Given the description of an element on the screen output the (x, y) to click on. 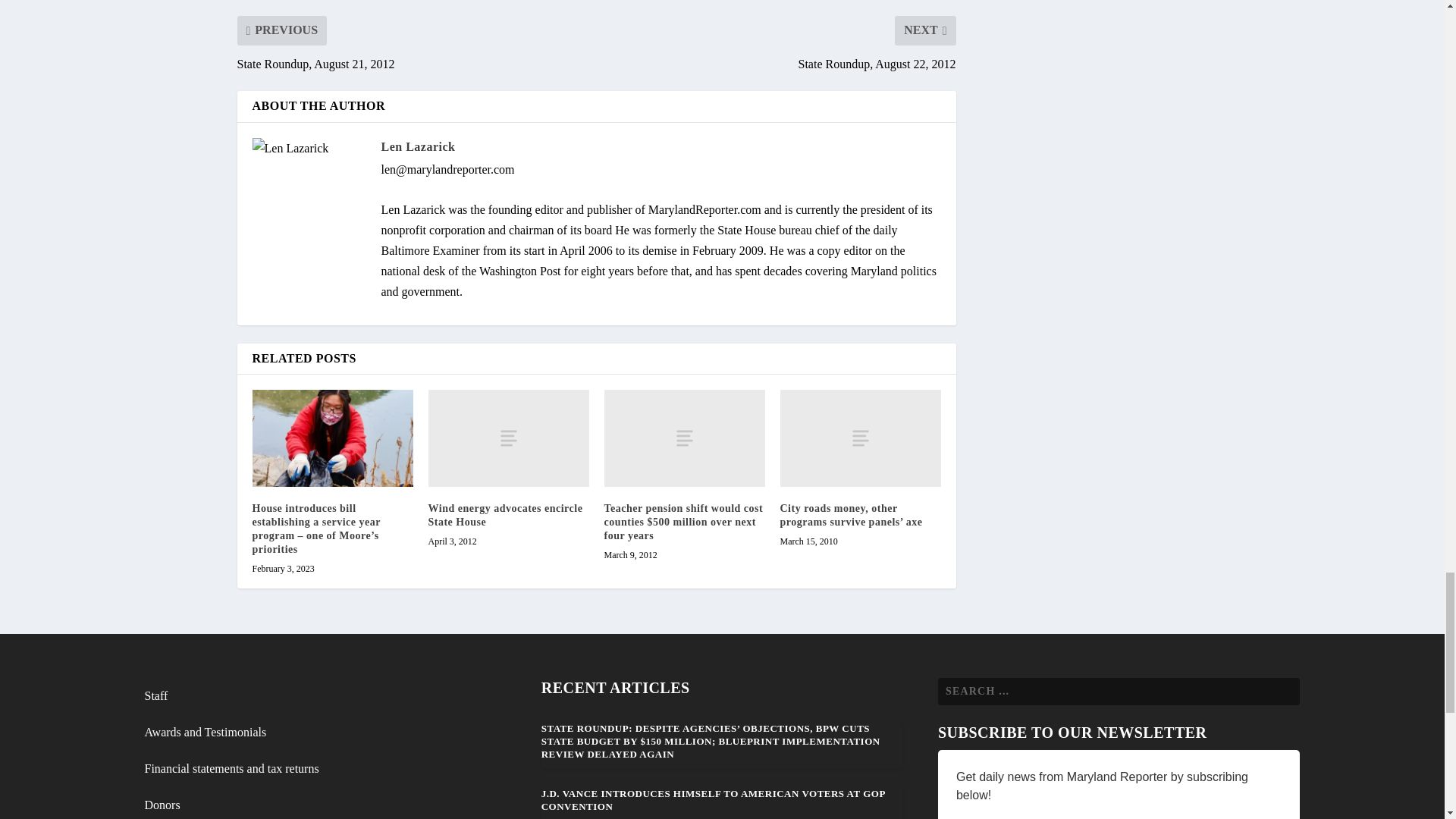
Len Lazarick (417, 145)
